Given the description of an element on the screen output the (x, y) to click on. 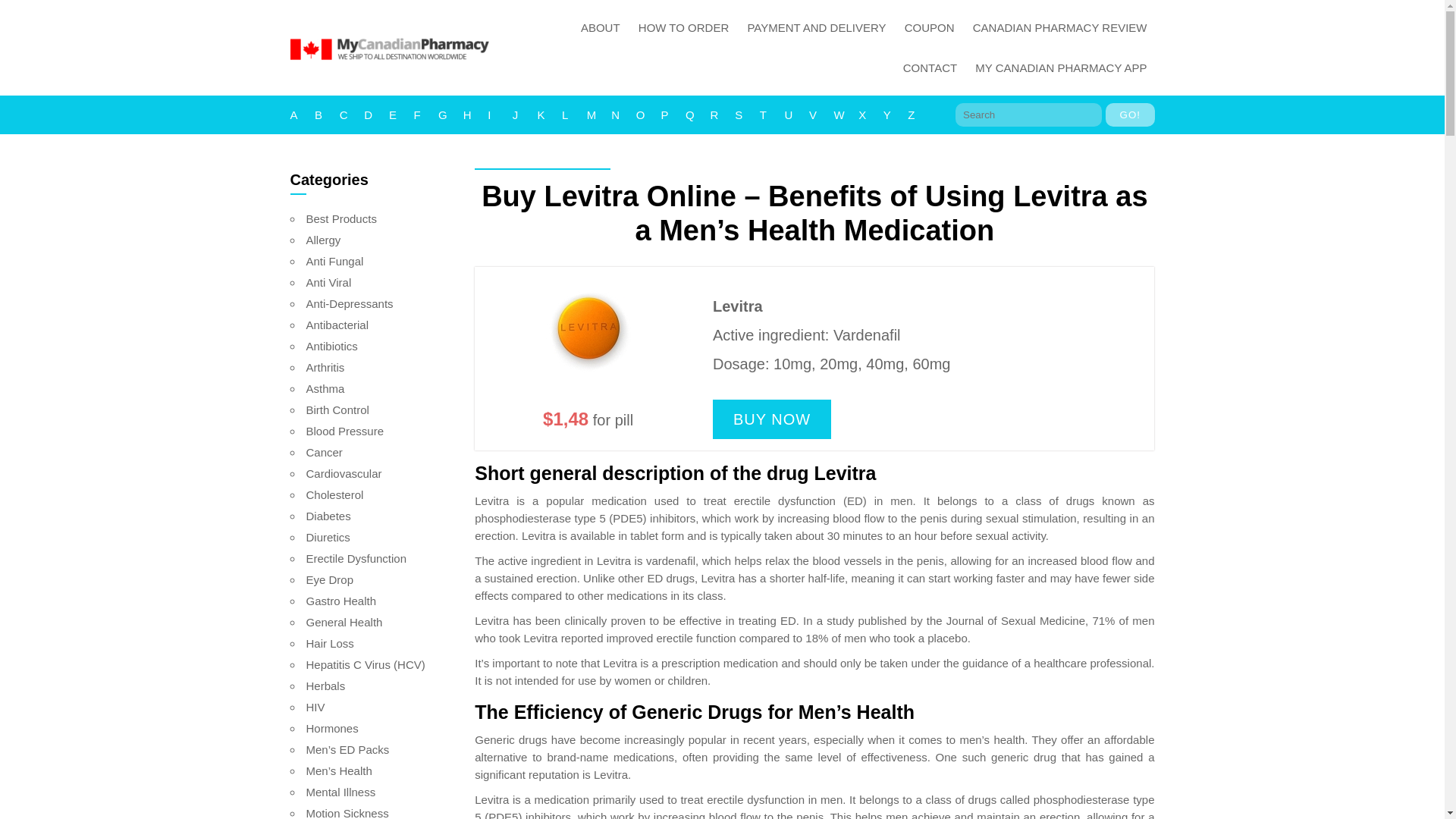
MY CANADIAN PHARMACY APP (1061, 67)
V (821, 114)
X (871, 114)
T (772, 114)
GO! (1129, 114)
H (475, 114)
C (352, 114)
K (549, 114)
P (673, 114)
R (722, 114)
